Given the description of an element on the screen output the (x, y) to click on. 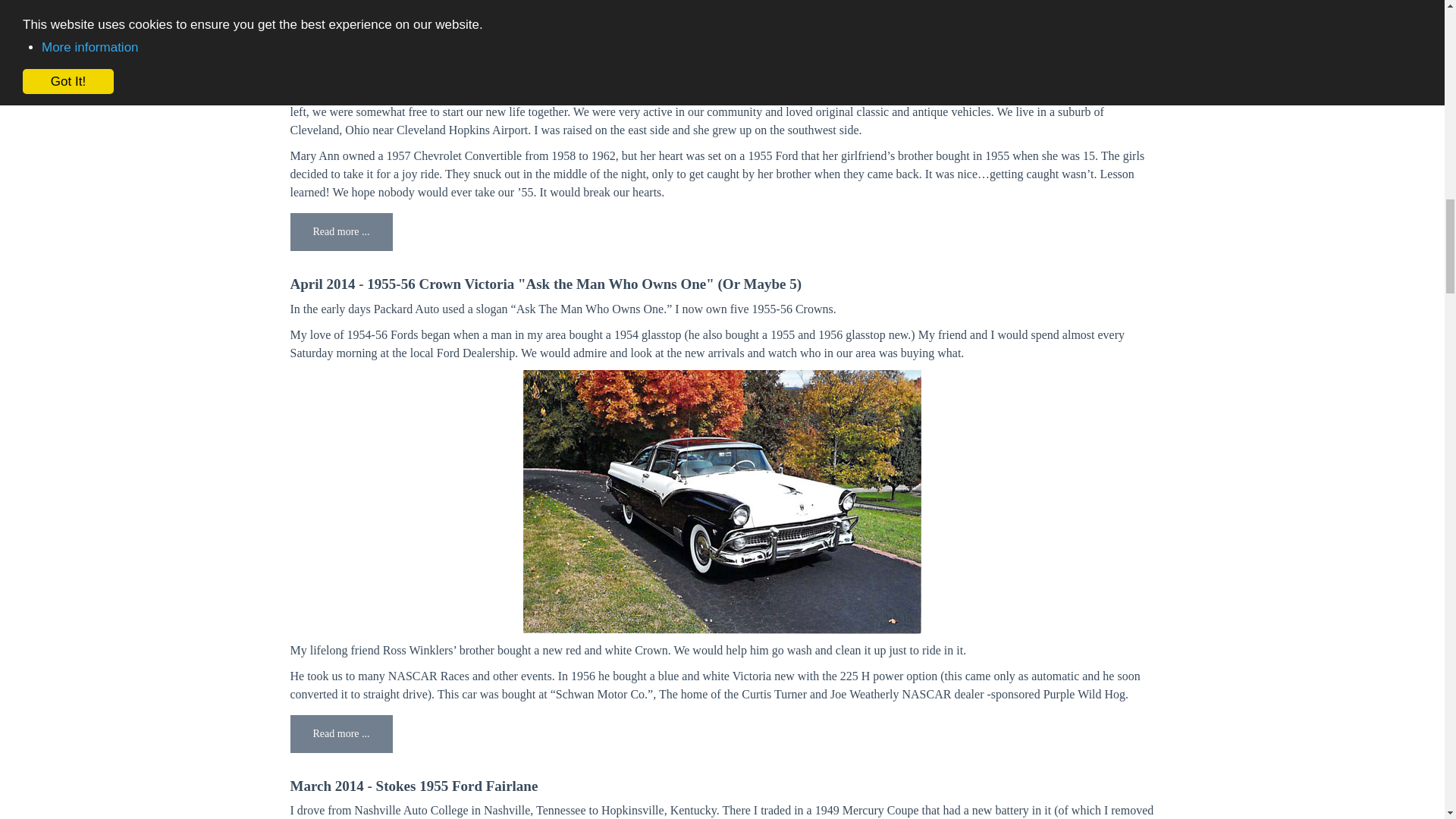
March 2014 - Stokes 1955 Ford Fairlane (413, 785)
Read more ... (340, 733)
Read more ... (340, 231)
